Given the description of an element on the screen output the (x, y) to click on. 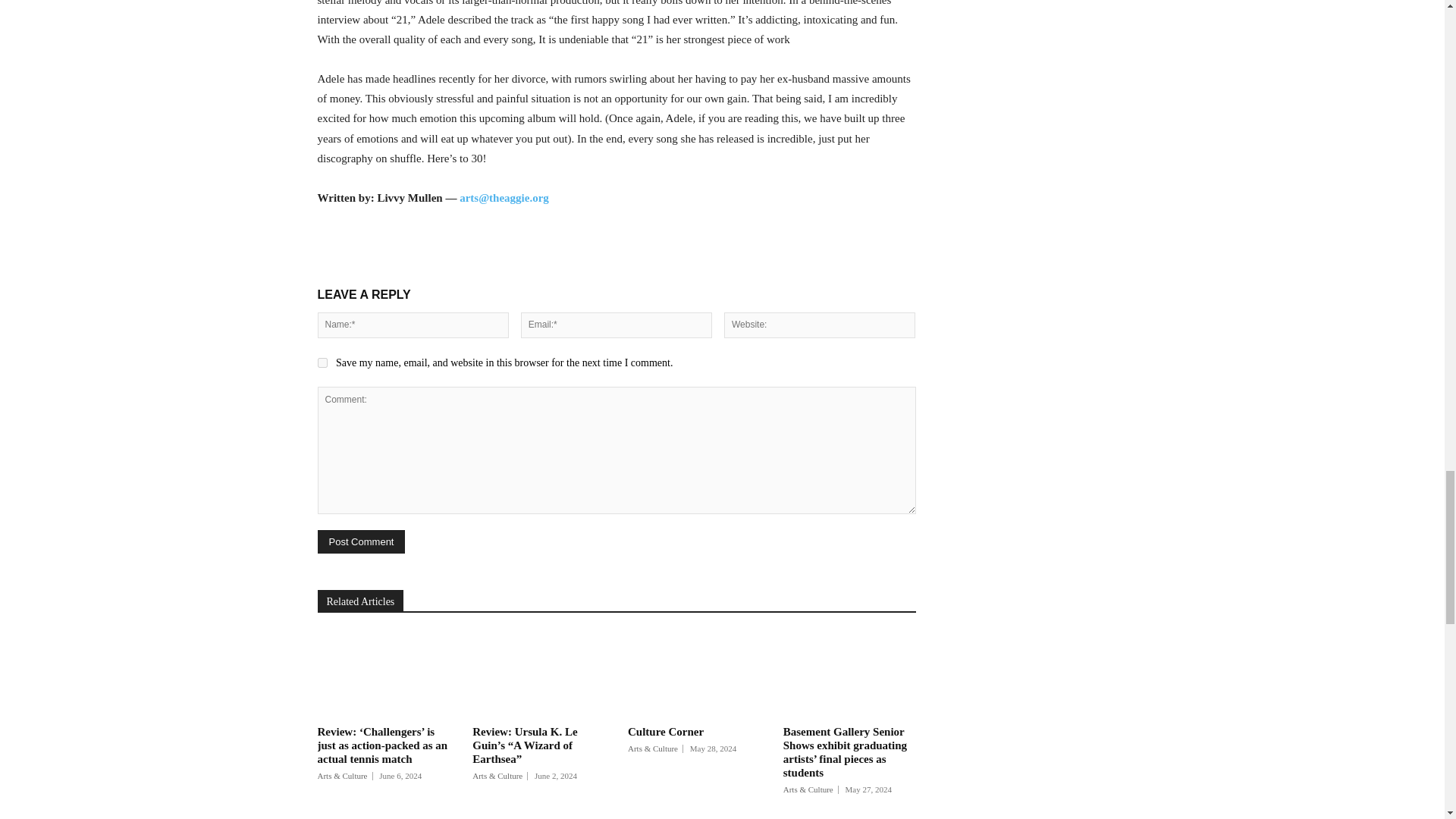
yes (321, 362)
Post Comment (360, 541)
